Given the description of an element on the screen output the (x, y) to click on. 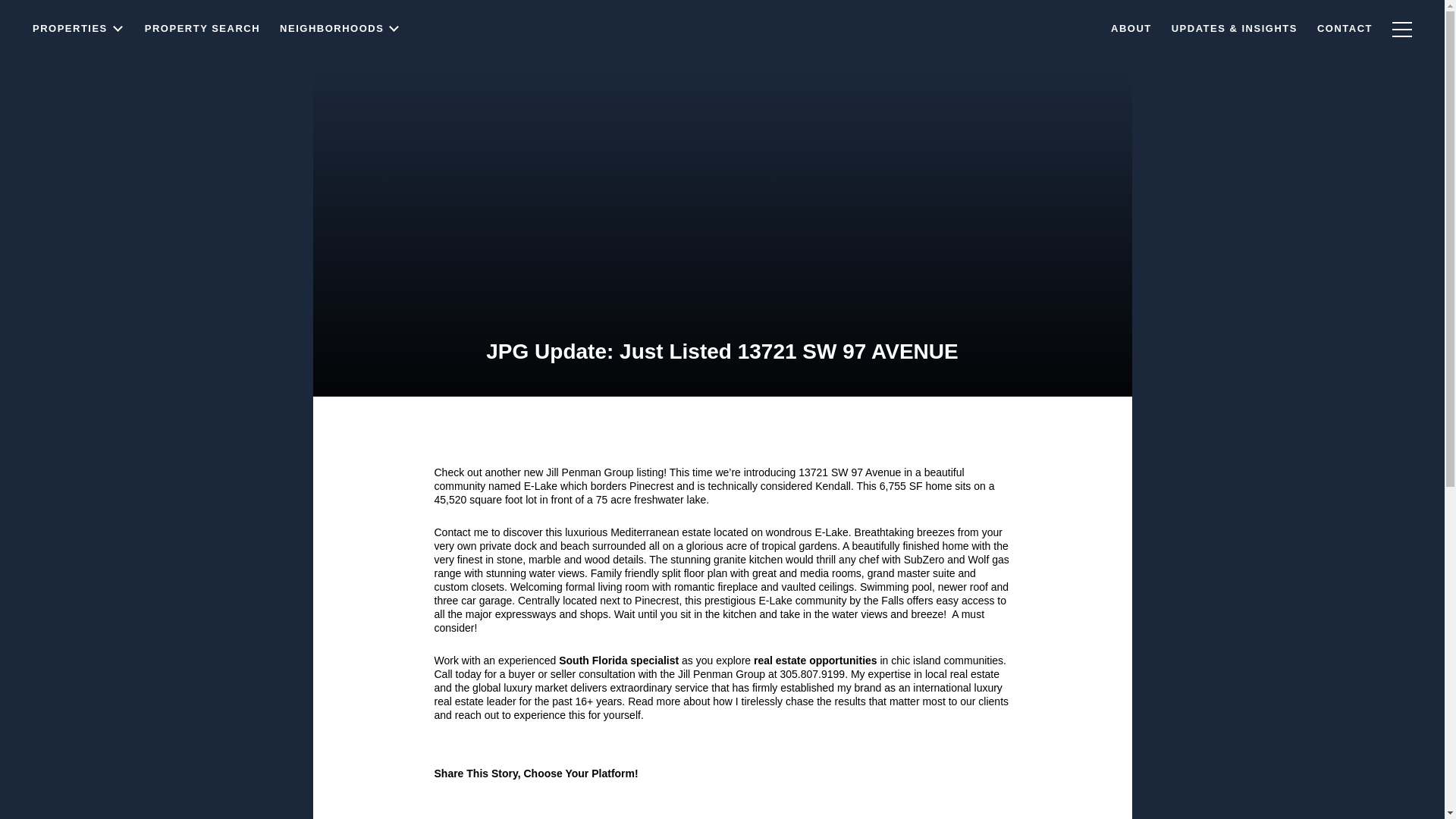
ABOUT (1130, 37)
NEIGHBORHOODS (339, 55)
PROPERTY SEARCH (202, 58)
CONTACT (1344, 35)
PROPERTIES (79, 69)
